Given the description of an element on the screen output the (x, y) to click on. 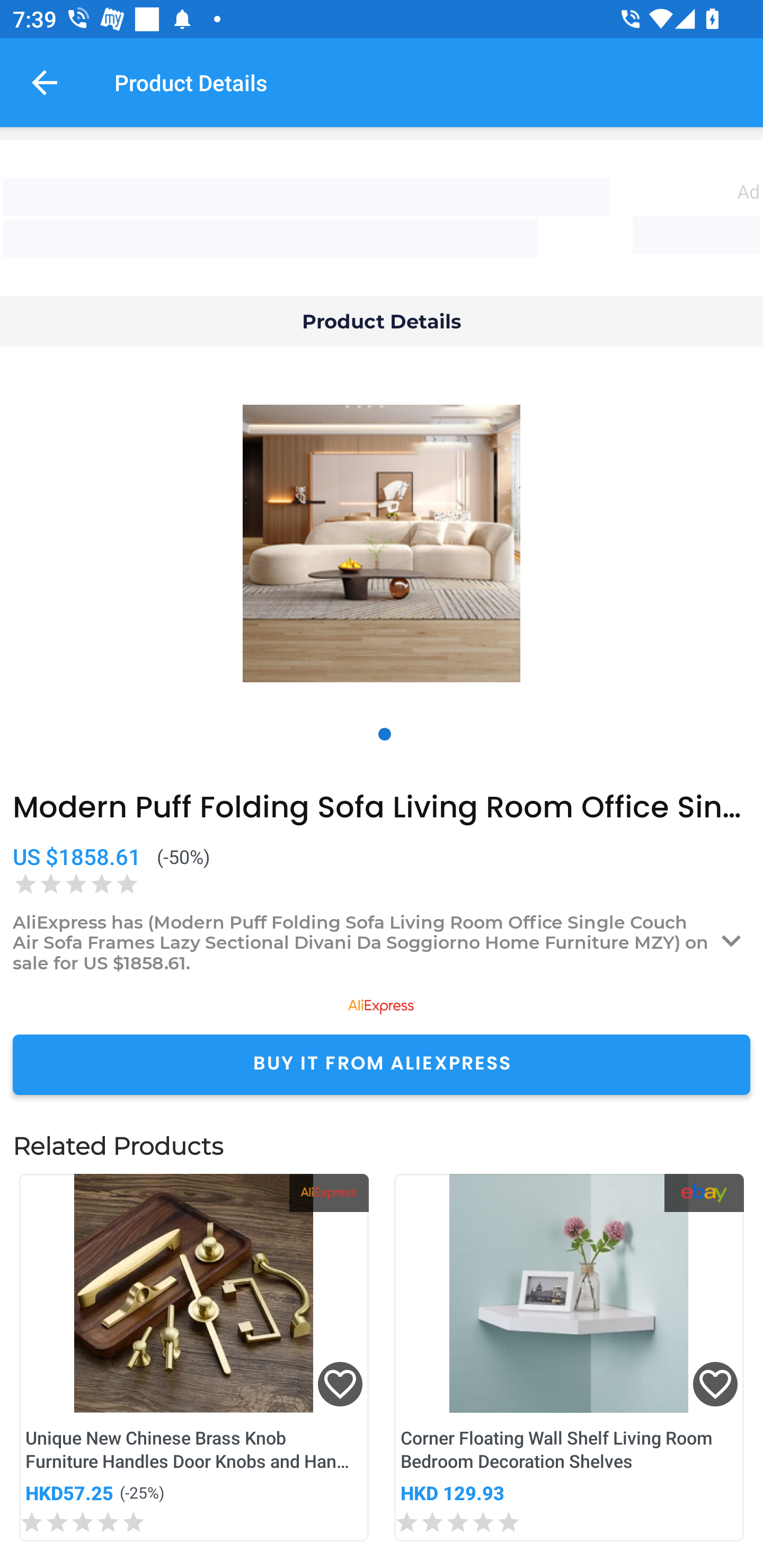
Navigate up (44, 82)
BUY IT FROM ALIEXPRESS (381, 1064)
